Given the description of an element on the screen output the (x, y) to click on. 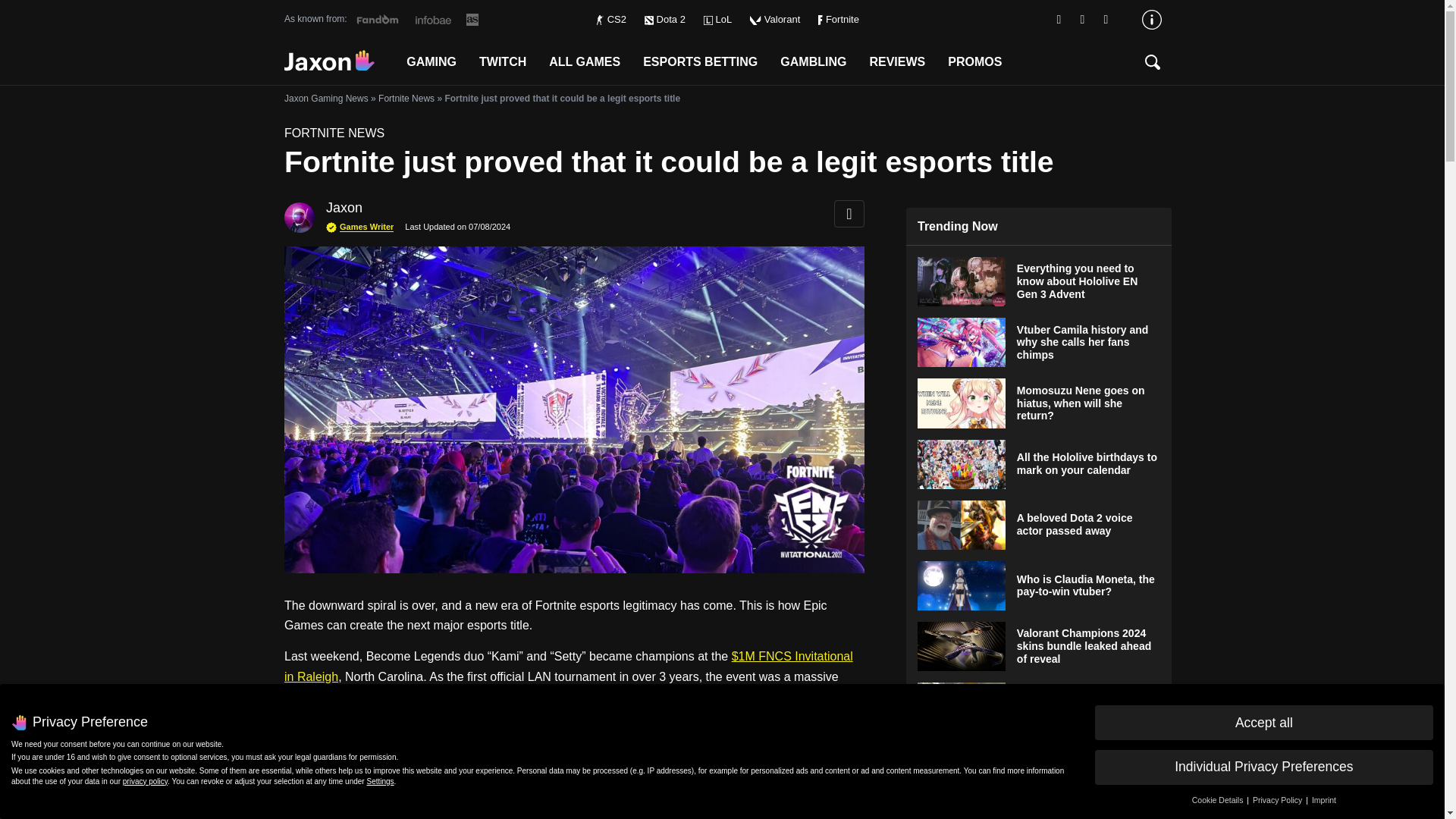
Twitter (1082, 19)
 LoL (717, 19)
 CS2 (611, 19)
 Dota 2 (665, 19)
TWITCH (502, 62)
GAMBLING (812, 62)
TikTok (1105, 19)
Google News (1058, 19)
 Fortnite (838, 19)
 Valorant (774, 19)
GAMING (430, 62)
